Given the description of an element on the screen output the (x, y) to click on. 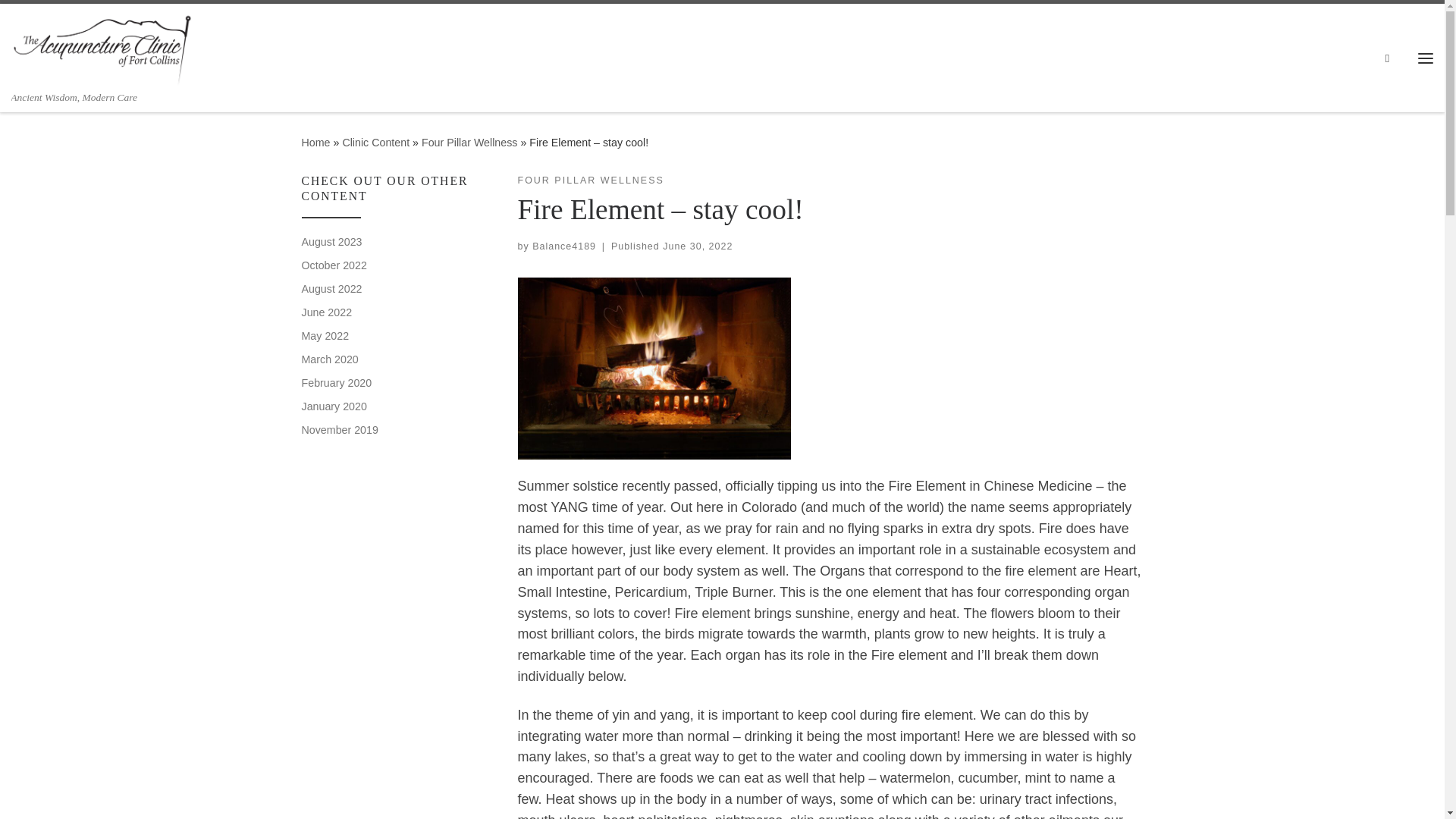
2:25 am (697, 245)
Clinic Content (375, 142)
View all posts by Balance4189 (563, 245)
Functional Medicine and Acupuncture Clinic of Fort Collins (315, 142)
FOUR PILLAR WELLNESS (589, 180)
Four Pillar Wellness (469, 142)
Balance4189 (563, 245)
View all posts in Four Pillar Wellness (589, 180)
Skip to content (60, 20)
Four Pillar Wellness (469, 142)
